Given the description of an element on the screen output the (x, y) to click on. 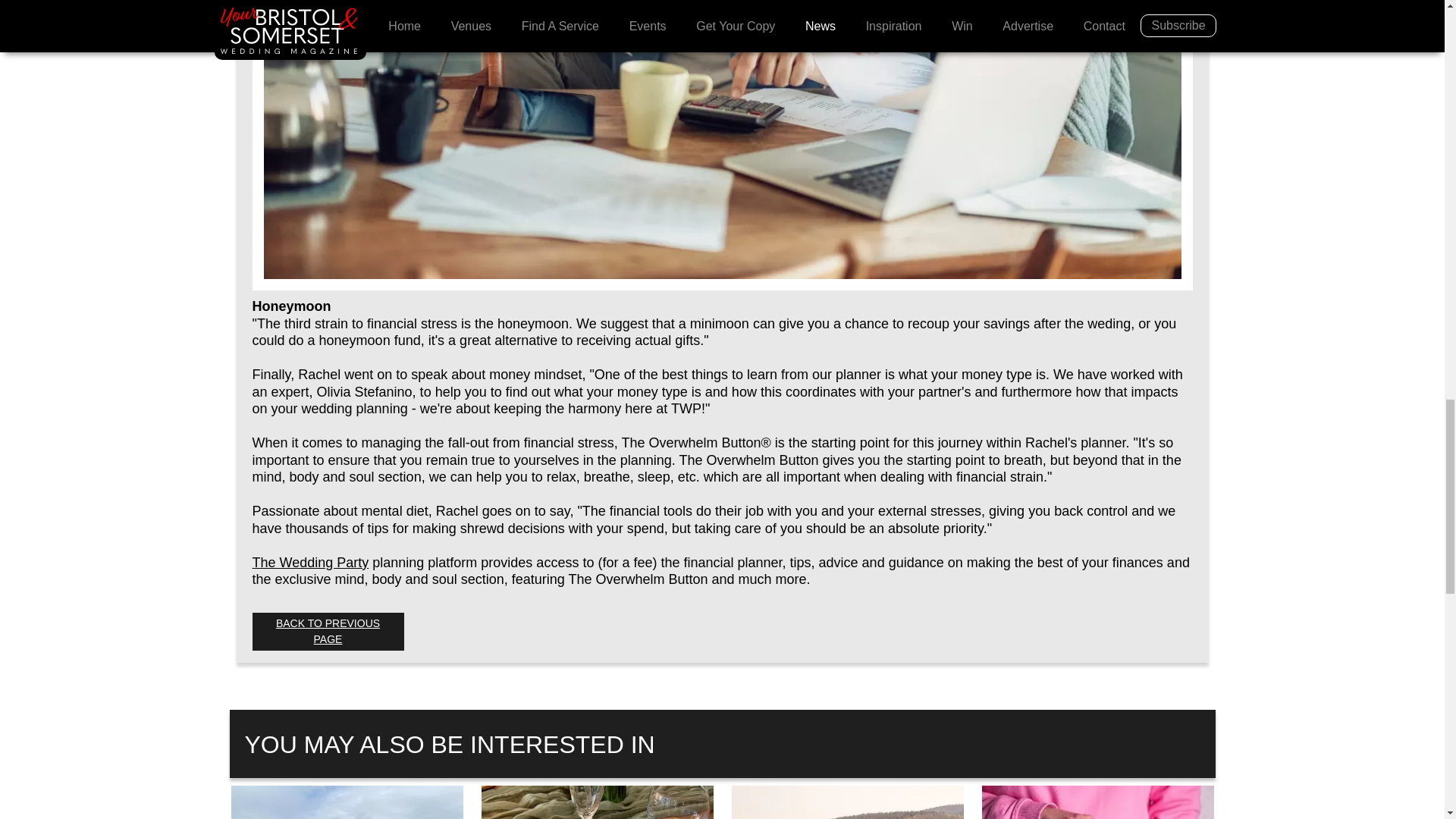
The Holcombe is a beautiful new wedding reception venue (346, 802)
The Wedding Party (309, 562)
Sustainable wedding table ideas from LIGA (596, 802)
Back to previous page (327, 631)
BACK TO PREVIOUS PAGE (327, 631)
